Given the description of an element on the screen output the (x, y) to click on. 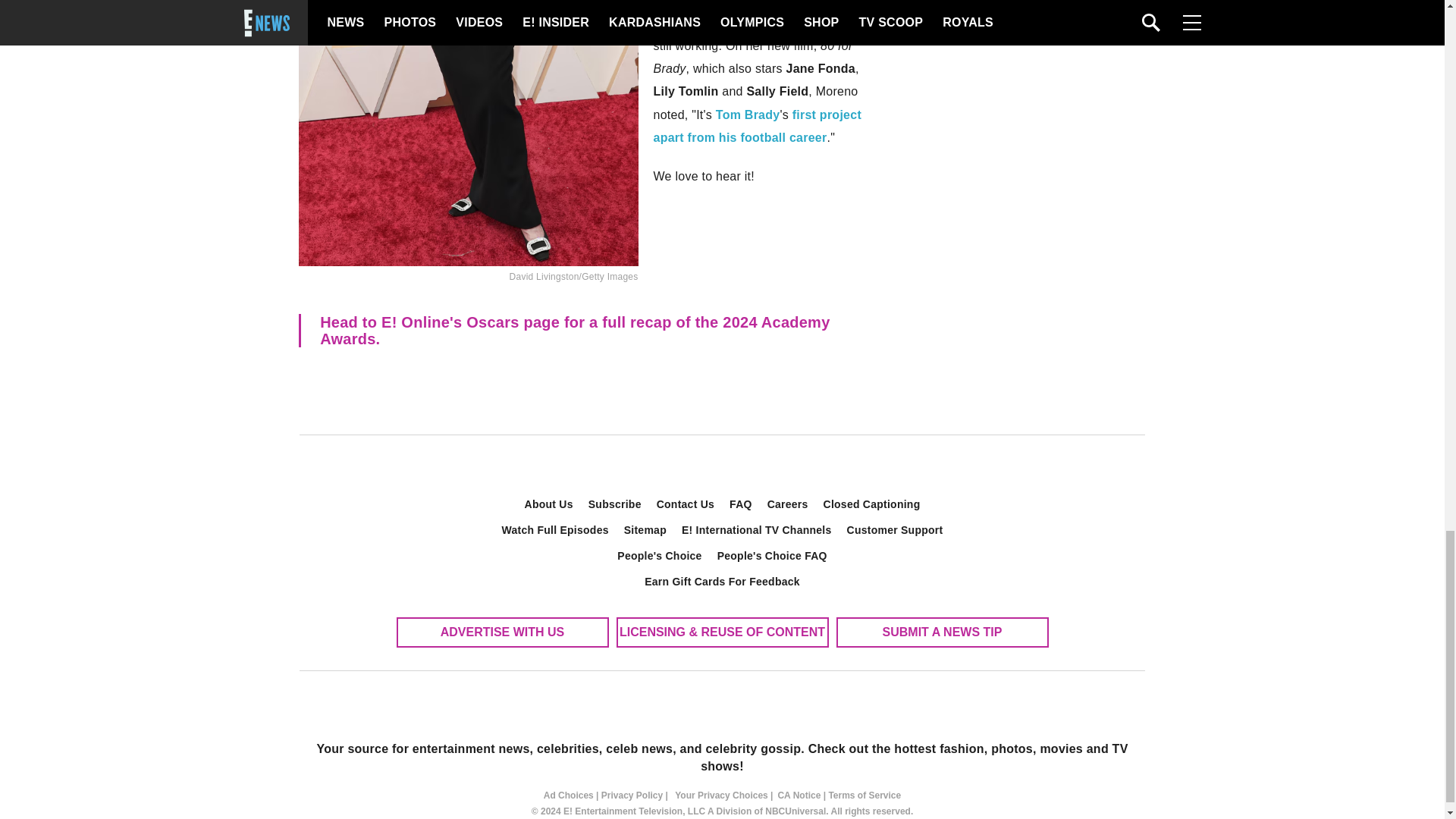
Tom Brady (748, 114)
first project apart from his football career (757, 126)
